Given the description of an element on the screen output the (x, y) to click on. 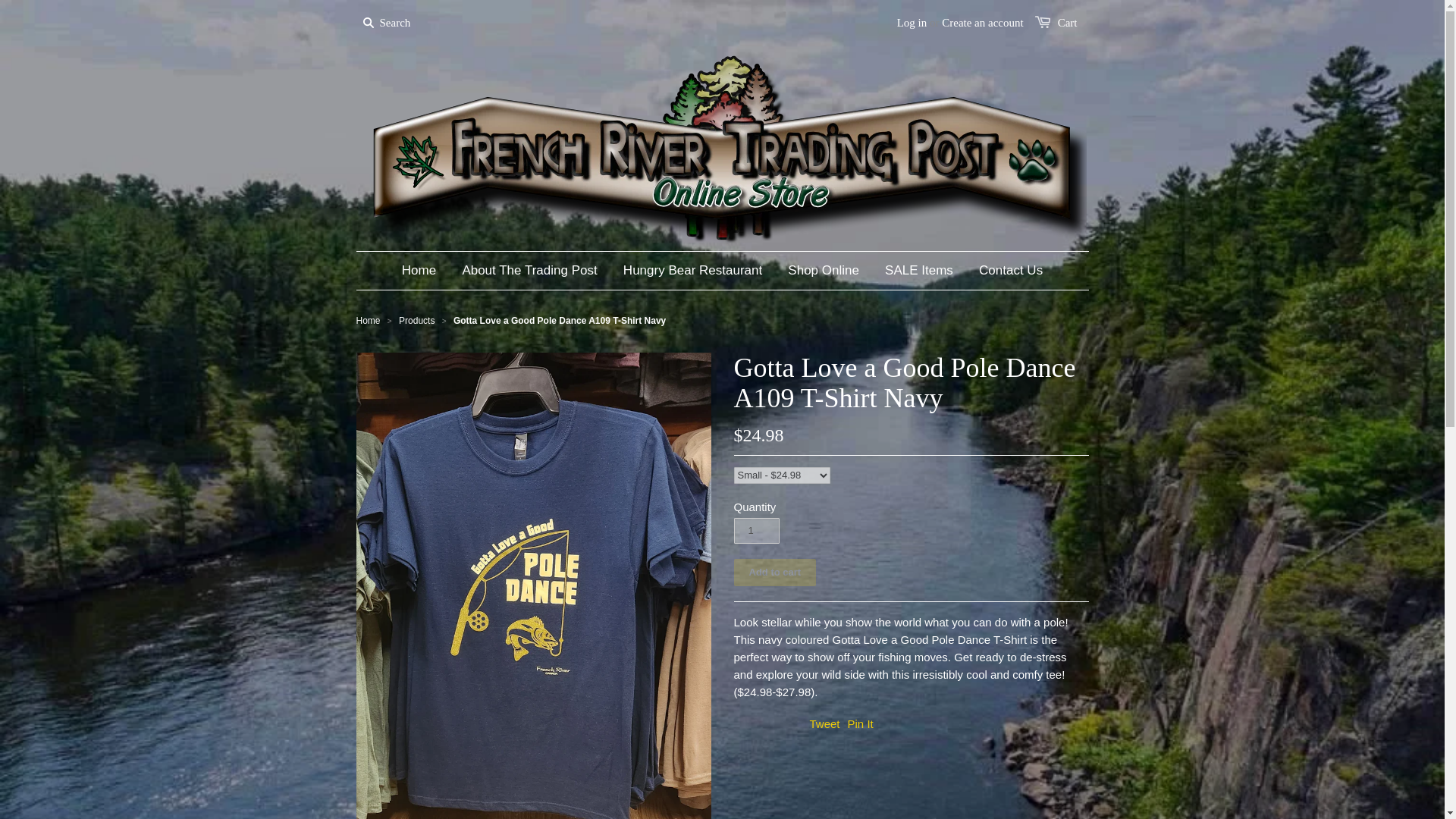
Hungry Bear Restaurant (692, 270)
Shop Online (823, 270)
Cart (1067, 22)
Shopping Cart (1067, 22)
About The Trading Post (528, 270)
Home (368, 320)
Tweet (824, 723)
Add to cart (774, 571)
Contact Us (1011, 270)
French River Trading Post (368, 320)
Add to cart (774, 571)
SALE Items (918, 270)
Pin It (860, 723)
1 (755, 529)
Create an account (982, 22)
